Given the description of an element on the screen output the (x, y) to click on. 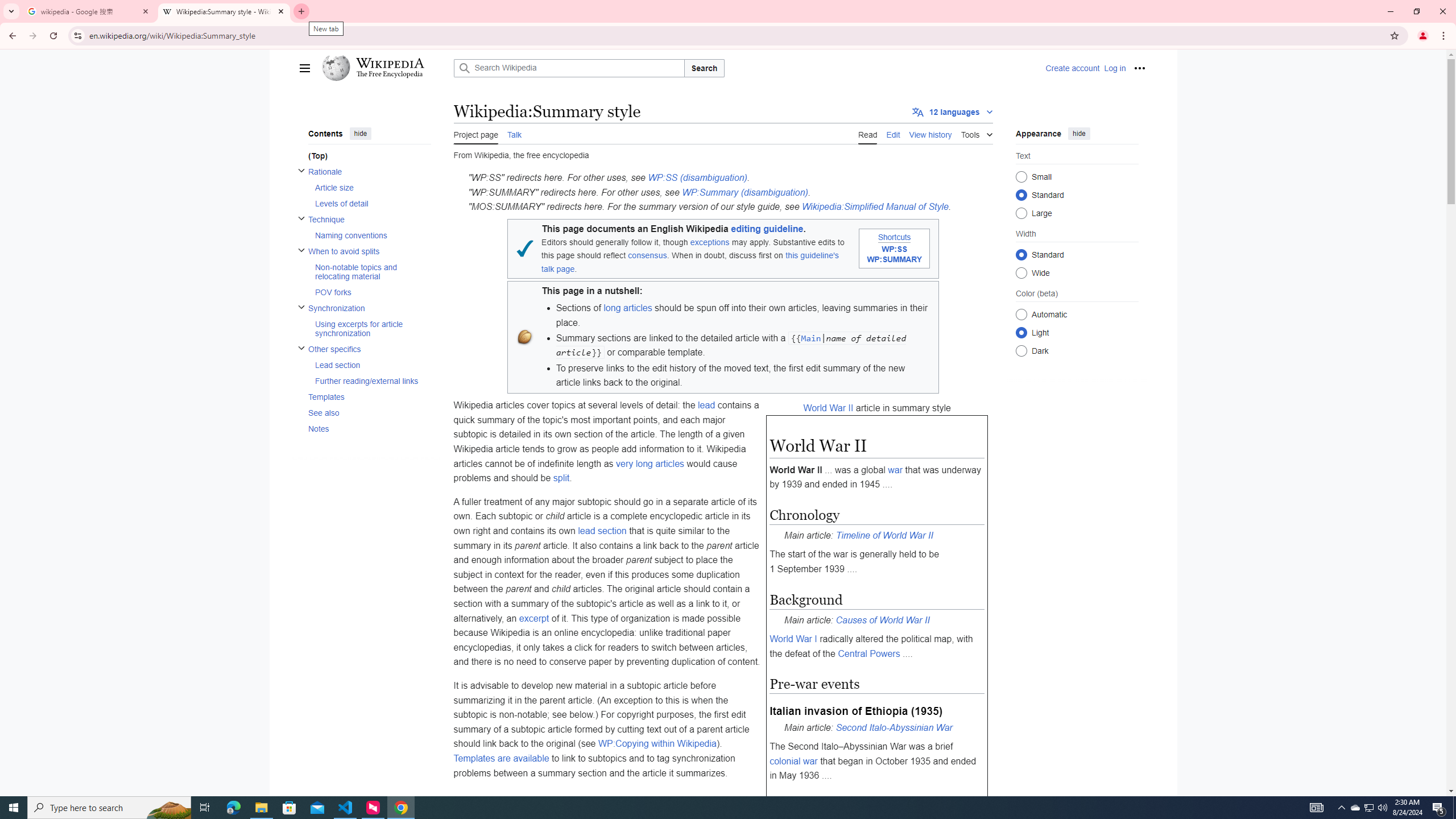
Wikipedia The Free Encyclopedia (384, 68)
Tools (976, 132)
Read (867, 133)
When to avoid splits (368, 251)
AutomationID: toc-Using_excerpts_for_article_synchronization (368, 328)
WP:Summary (disambiguation) (744, 191)
Notes (368, 428)
hide (1078, 133)
AutomationID: ca-edit (892, 133)
Toggle Rationale subsection (300, 169)
Technique (368, 219)
AutomationID: toc-Further_reading/external_links (368, 380)
Rationale (368, 170)
lead (705, 405)
AutomationID: toc-Rationale (365, 186)
